Given the description of an element on the screen output the (x, y) to click on. 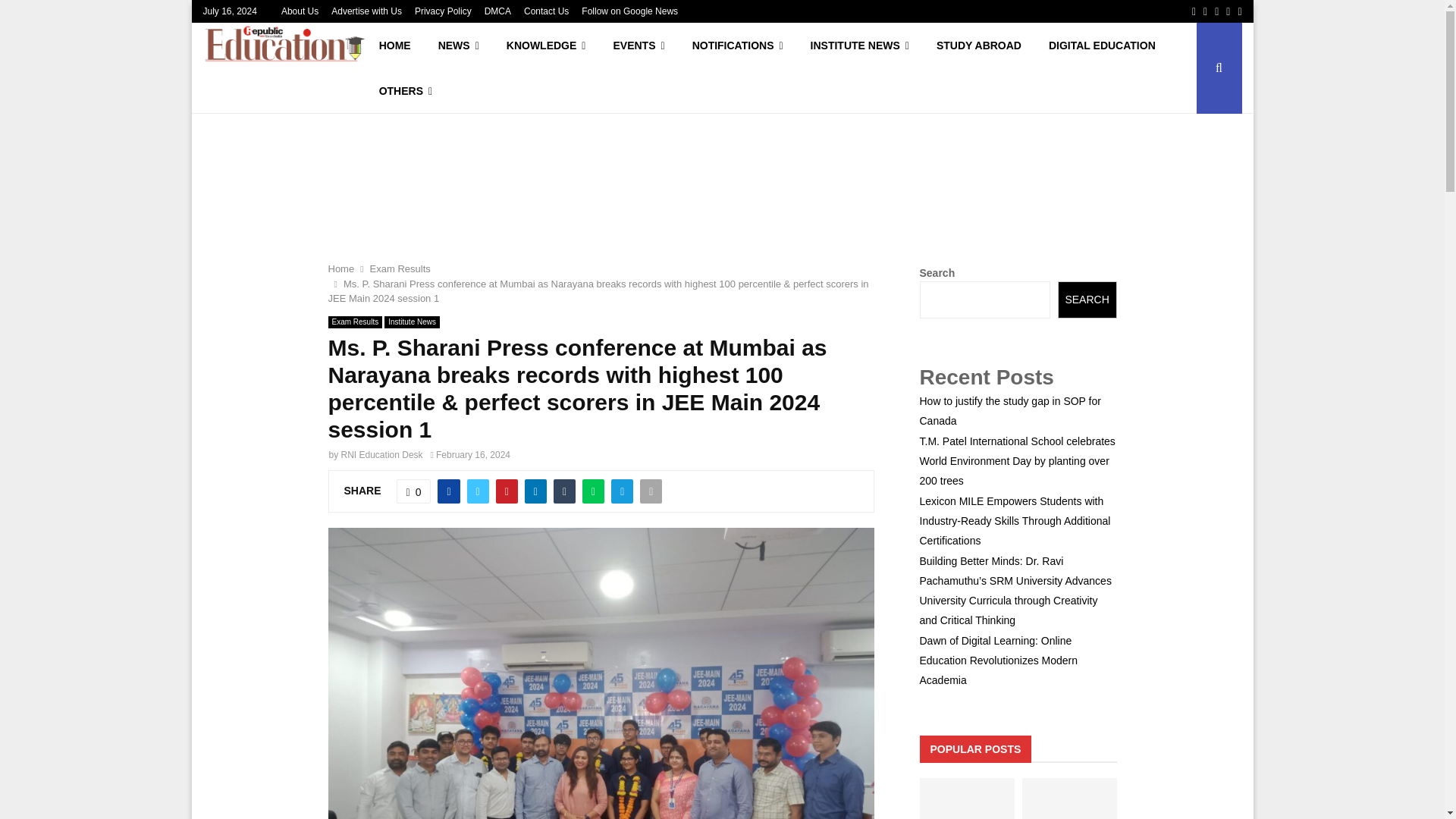
About Us (299, 11)
KNOWLEDGE (546, 44)
DIGITAL EDUCATION (1102, 44)
NOTIFICATIONS (737, 44)
Advertise with Us (366, 11)
Privacy Policy (442, 11)
Like (413, 491)
DMCA (497, 11)
NEWS (459, 44)
HOME (395, 44)
EVENTS (638, 44)
Follow on Google News (629, 11)
Contact Us (546, 11)
STUDY ABROAD (979, 44)
INSTITUTE NEWS (859, 44)
